Given the description of an element on the screen output the (x, y) to click on. 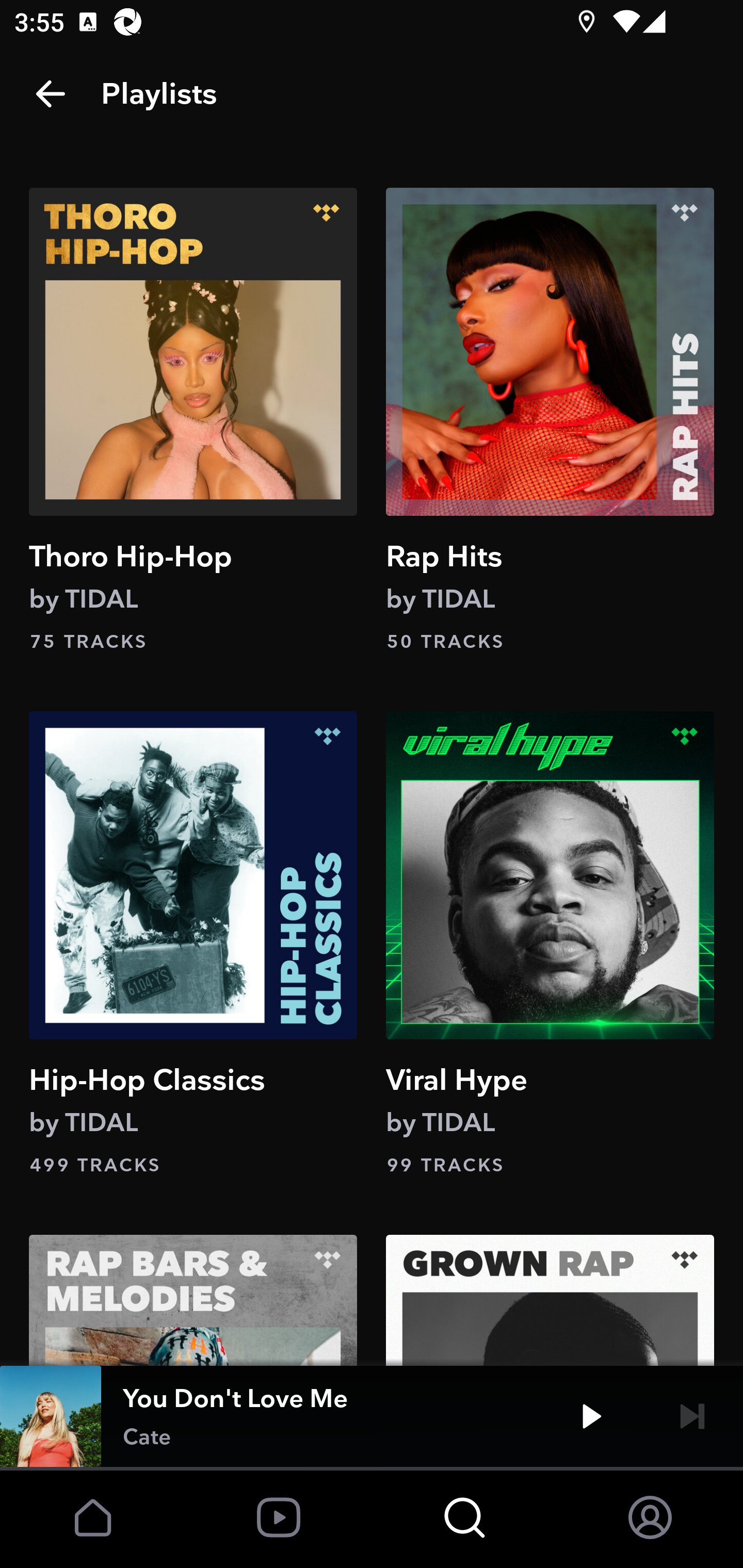
Thoro Hip-Hop by TIDAL 75 TRACKS (192, 420)
Rap Hits by TIDAL 50 TRACKS (549, 420)
Hip-Hop Classics by TIDAL 499 TRACKS (192, 944)
Viral Hype by TIDAL 99 TRACKS (549, 944)
You Don't Love Me Cate Play (371, 1416)
Play (590, 1416)
